Given the description of an element on the screen output the (x, y) to click on. 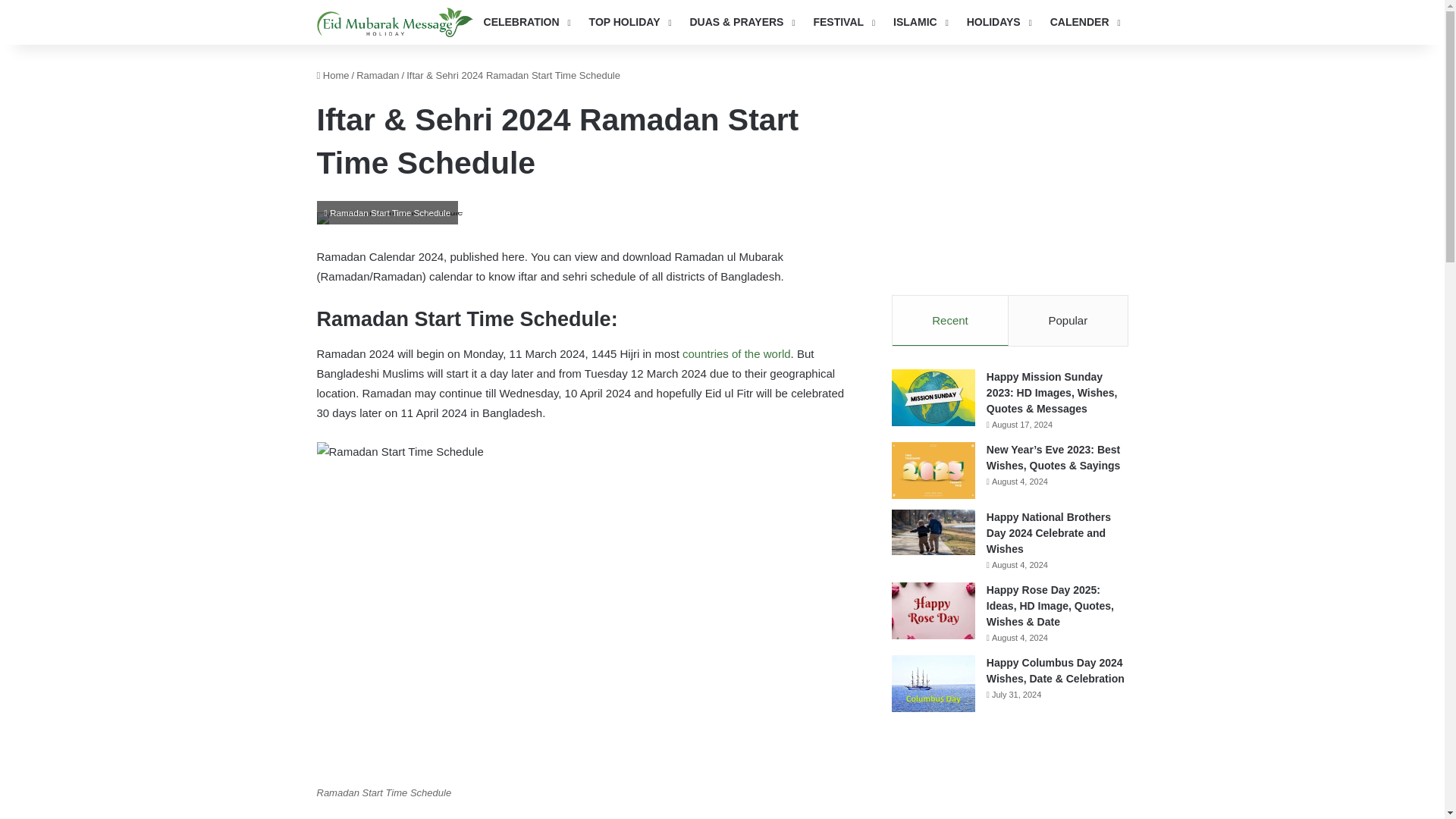
TOP HOLIDAY (628, 22)
CELEBRATION (525, 22)
FESTIVAL (842, 22)
Eid Mubarak Message (395, 21)
CALENDER (1083, 22)
HOLIDAYS (997, 22)
ISLAMIC (919, 22)
